Given the description of an element on the screen output the (x, y) to click on. 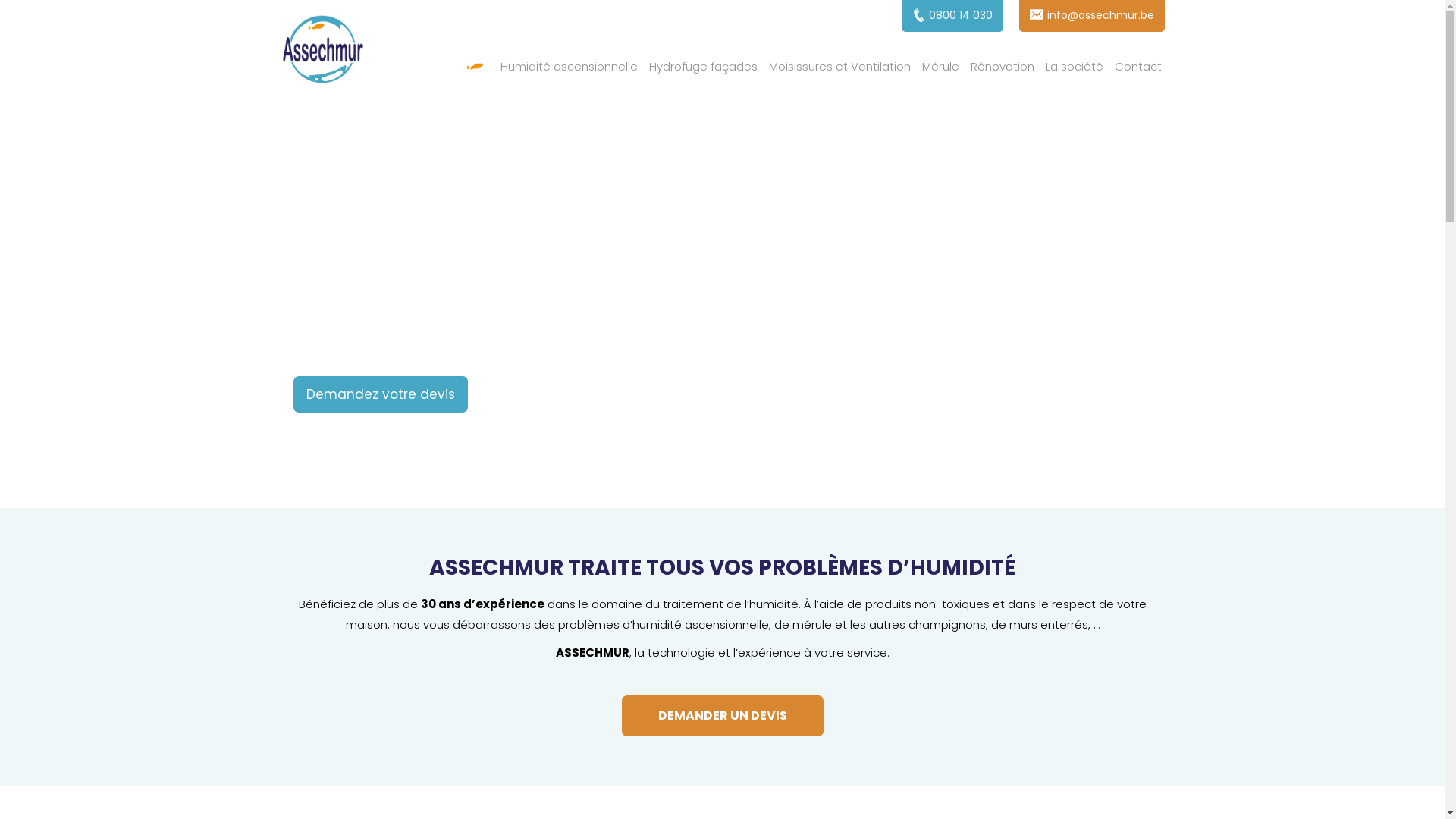
Assechmur Element type: text (323, 51)
DEMANDER UN DEVIS Element type: text (722, 715)
Demandez votre devis Element type: text (380, 394)
Moisissures et Ventilation Element type: text (839, 66)
Contact Element type: text (1138, 66)
